Given the description of an element on the screen output the (x, y) to click on. 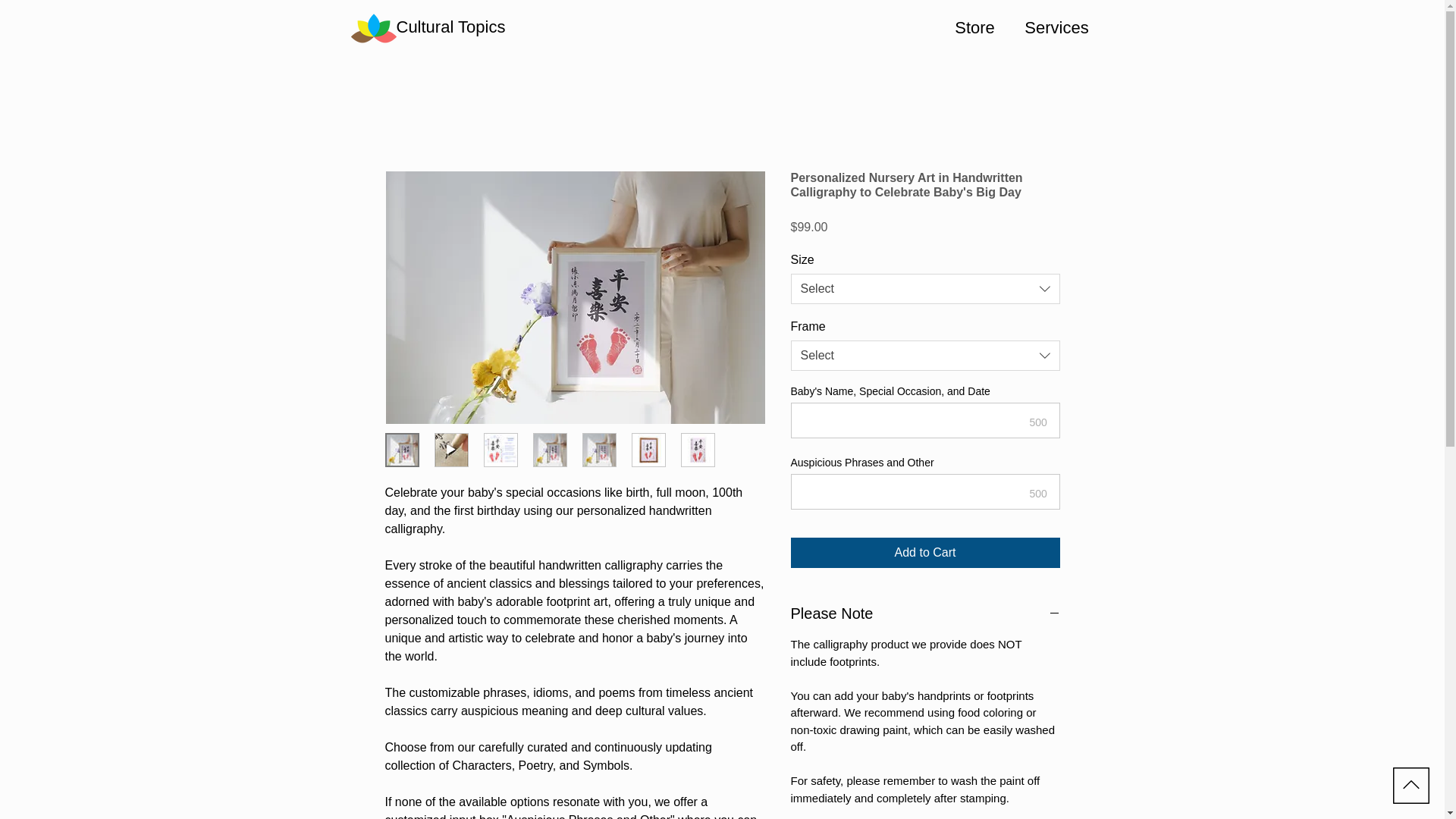
Cultural Topics (450, 26)
Please Note (924, 613)
Select (924, 288)
Store (974, 27)
Services (1056, 27)
Select (924, 355)
Add to Cart (924, 552)
